Given the description of an element on the screen output the (x, y) to click on. 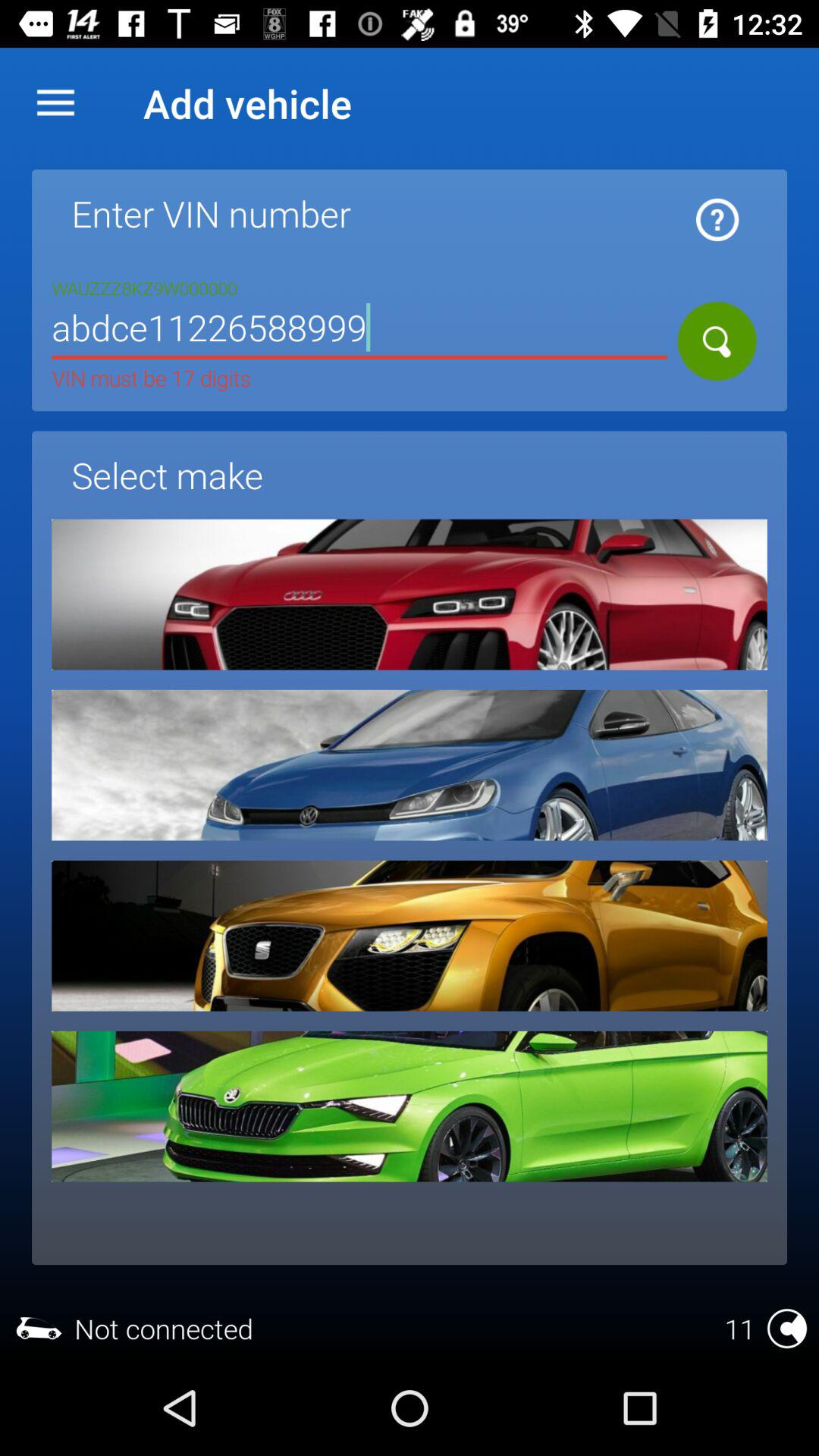
select icon to the left of the add vehicle item (55, 103)
